Given the description of an element on the screen output the (x, y) to click on. 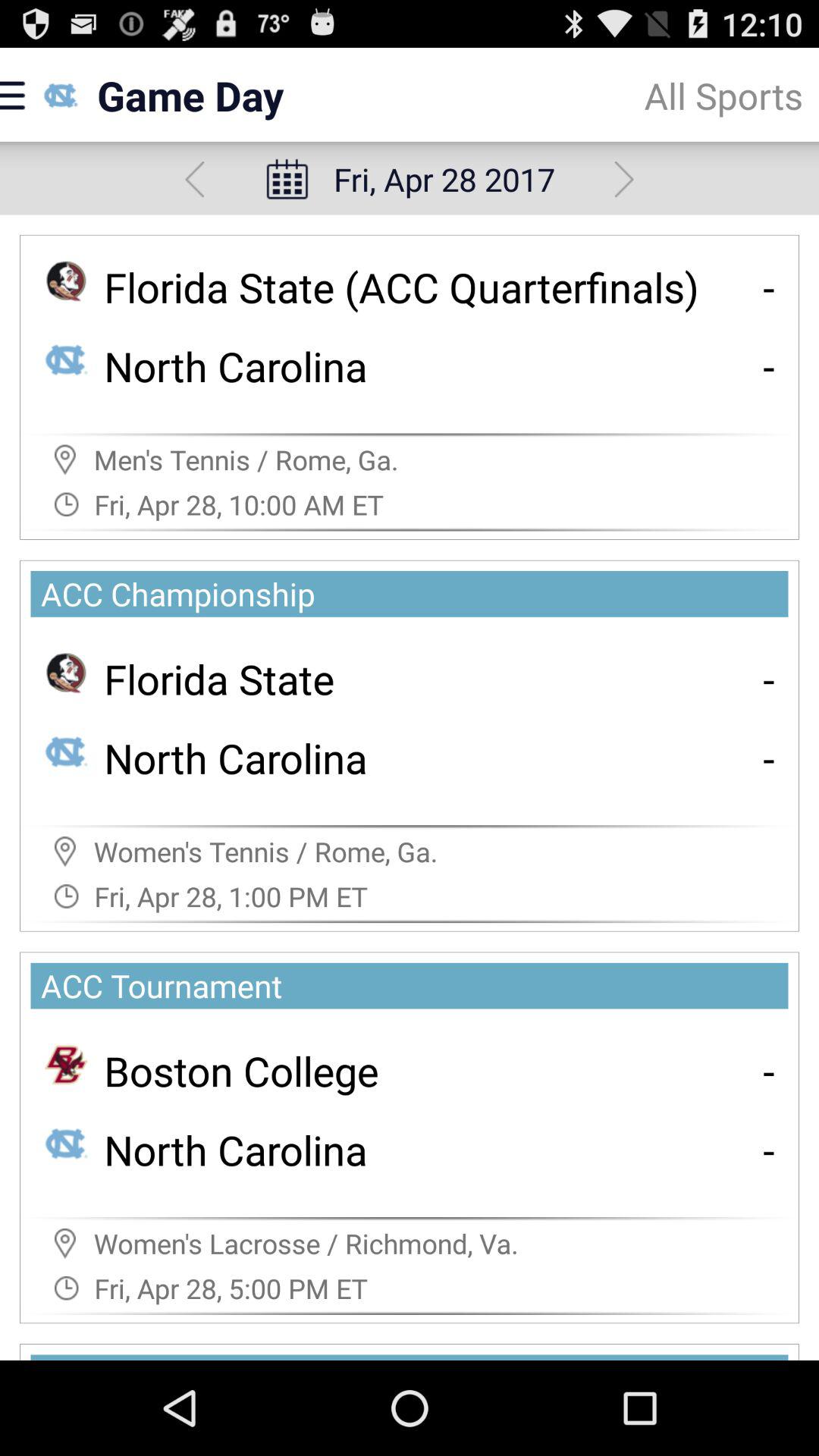
choose the app next to the florida state acc app (768, 286)
